Given the description of an element on the screen output the (x, y) to click on. 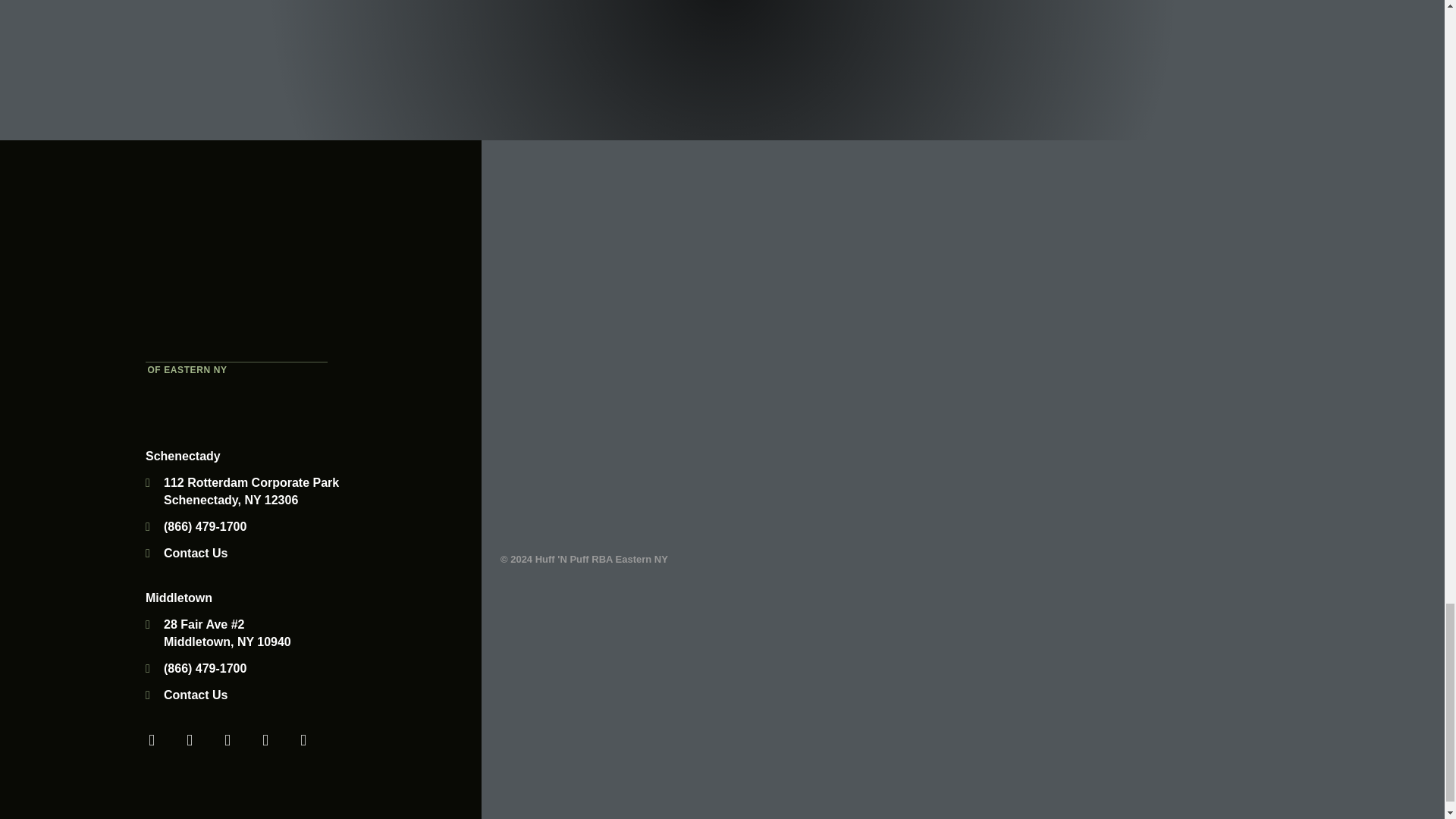
YouTube (227, 739)
Huff 'N Puff RBA Eastern NY (236, 275)
LinkedIn (265, 739)
Facebook (151, 739)
Twitter (189, 739)
Instagram (303, 739)
